Given the description of an element on the screen output the (x, y) to click on. 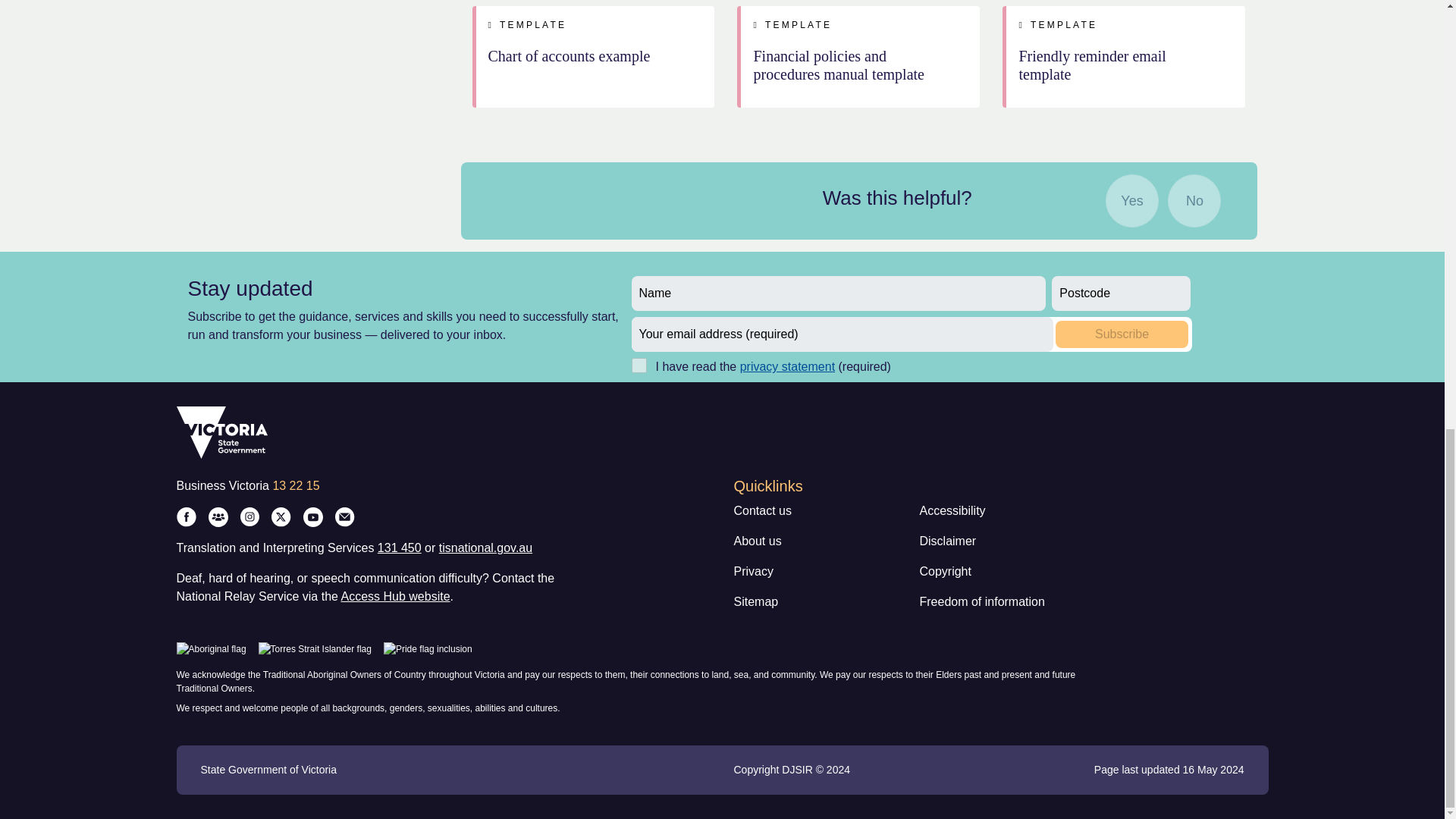
on (638, 365)
Link opens in a new window (786, 366)
